Given the description of an element on the screen output the (x, y) to click on. 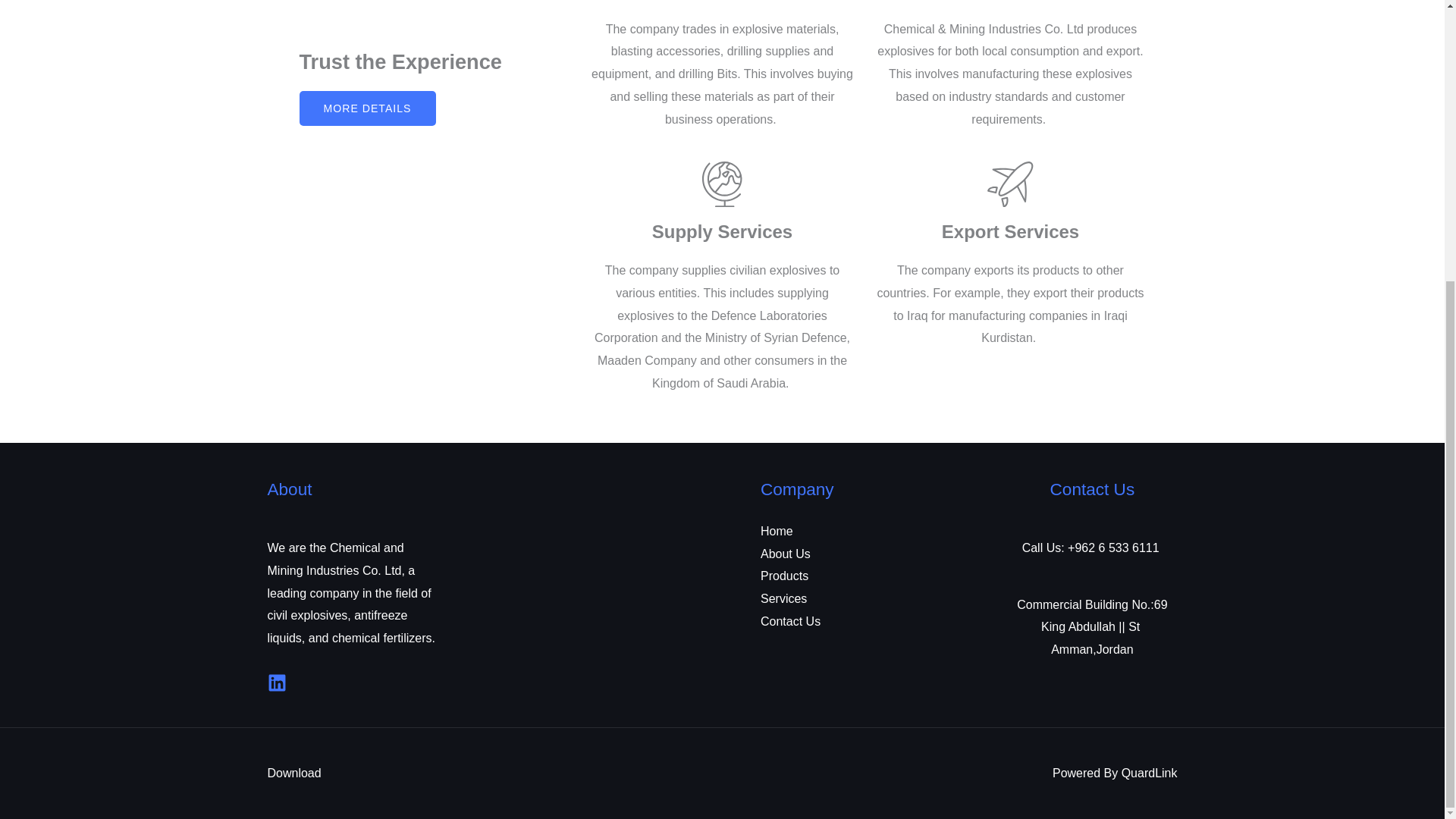
About Us (785, 553)
Products (784, 575)
QuardLink (1149, 772)
Home (776, 530)
Contact Us (790, 621)
Services (783, 598)
MORE DETAILS (366, 108)
